Given the description of an element on the screen output the (x, y) to click on. 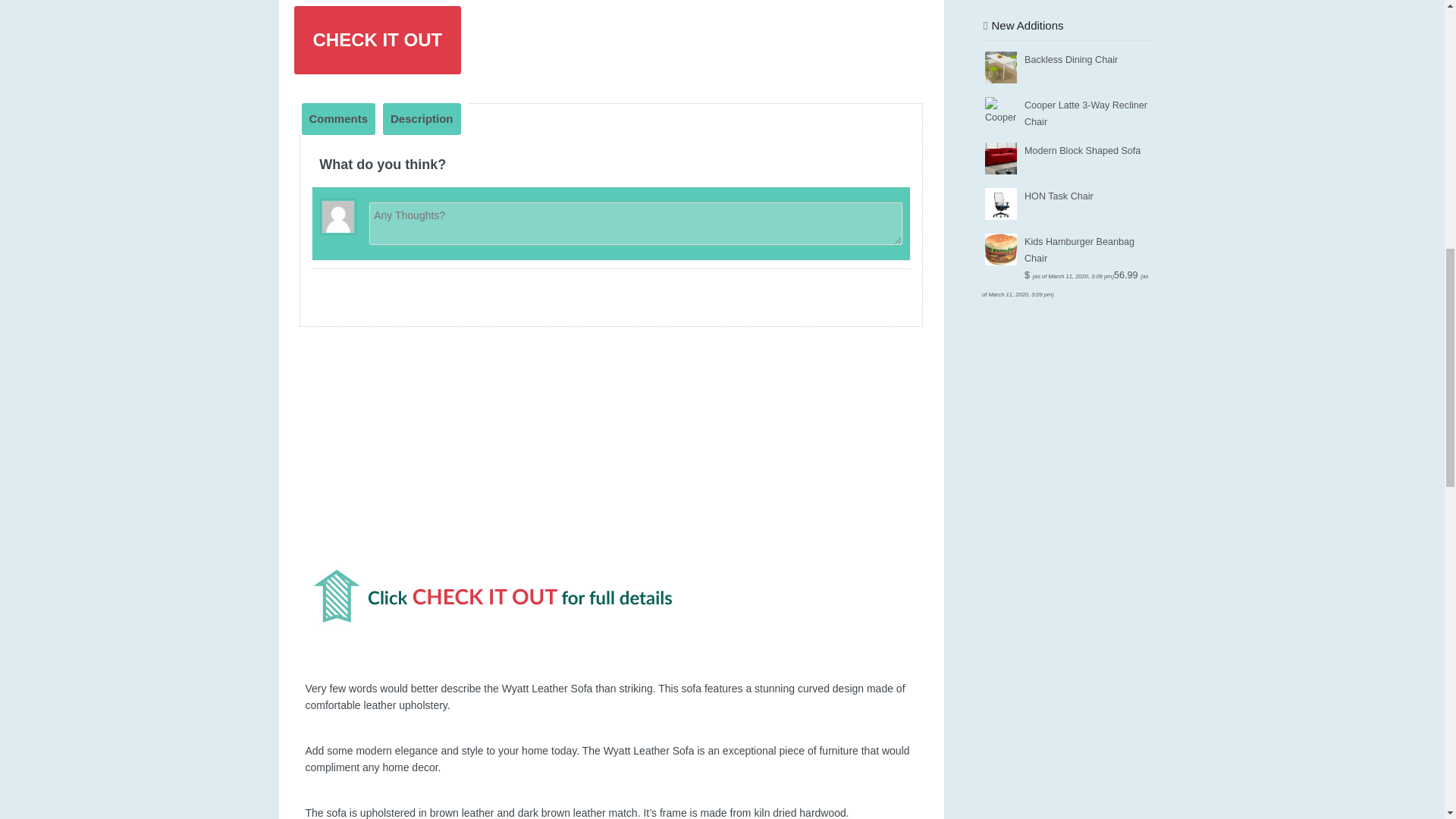
Comments (338, 119)
Description (421, 119)
CHECK IT OUT (377, 39)
